Given the description of an element on the screen output the (x, y) to click on. 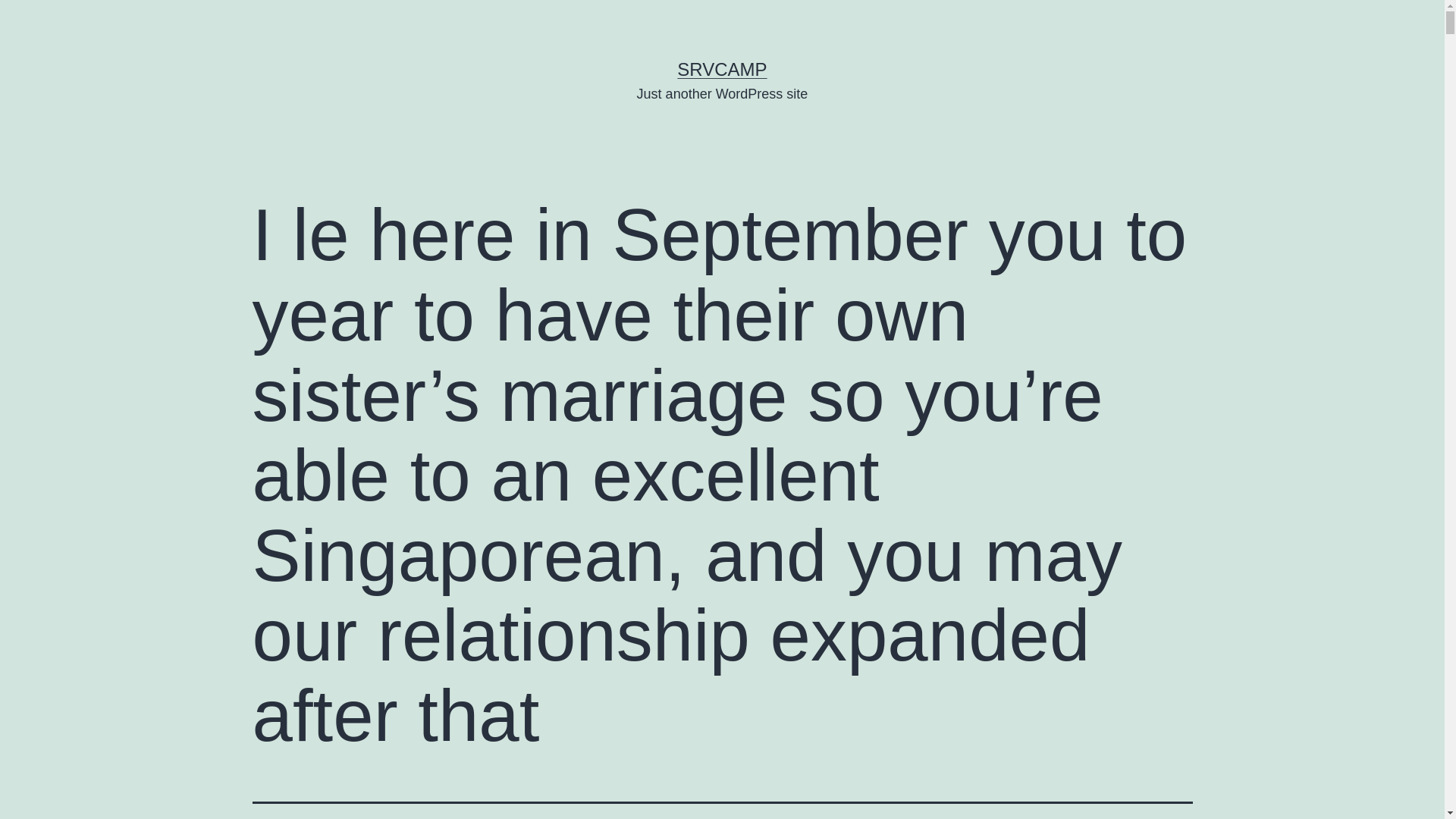
SRVCAMP (722, 68)
